Given the description of an element on the screen output the (x, y) to click on. 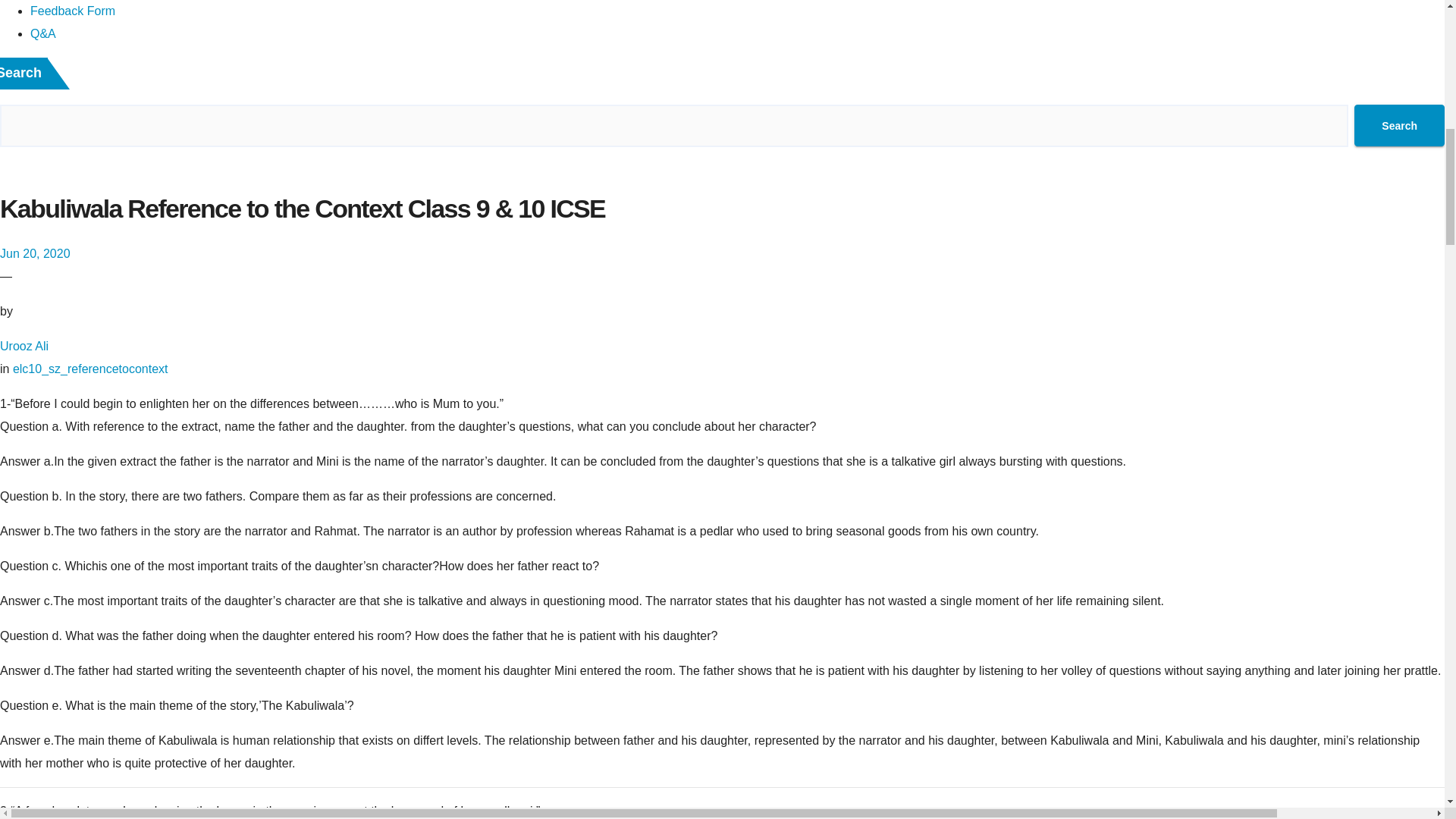
Feedback Form (72, 10)
